Given the description of an element on the screen output the (x, y) to click on. 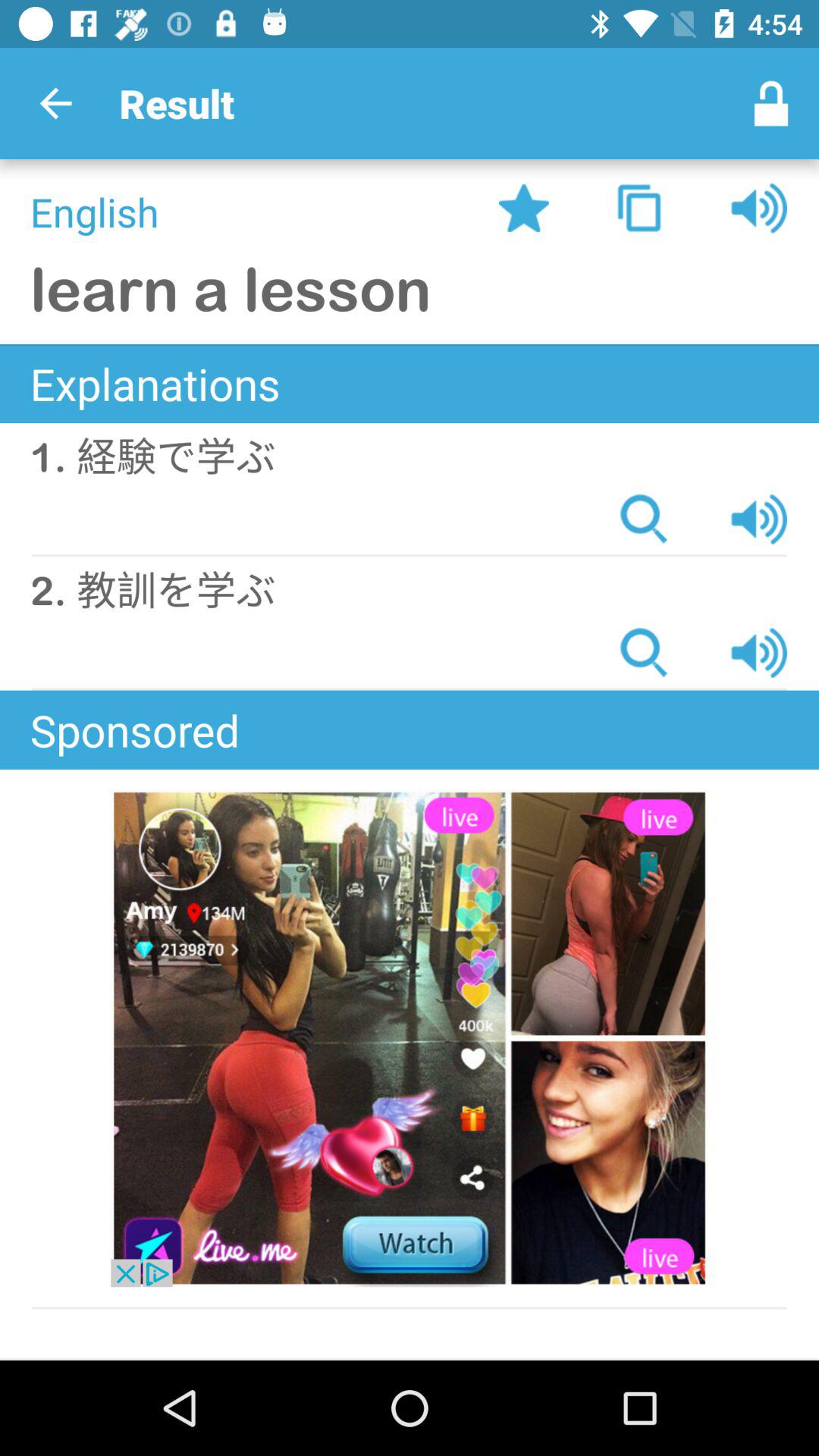
select the third sound icon on the right side of the web page (758, 652)
select the second sound icon on the right side of the web page (758, 519)
